Given the description of an element on the screen output the (x, y) to click on. 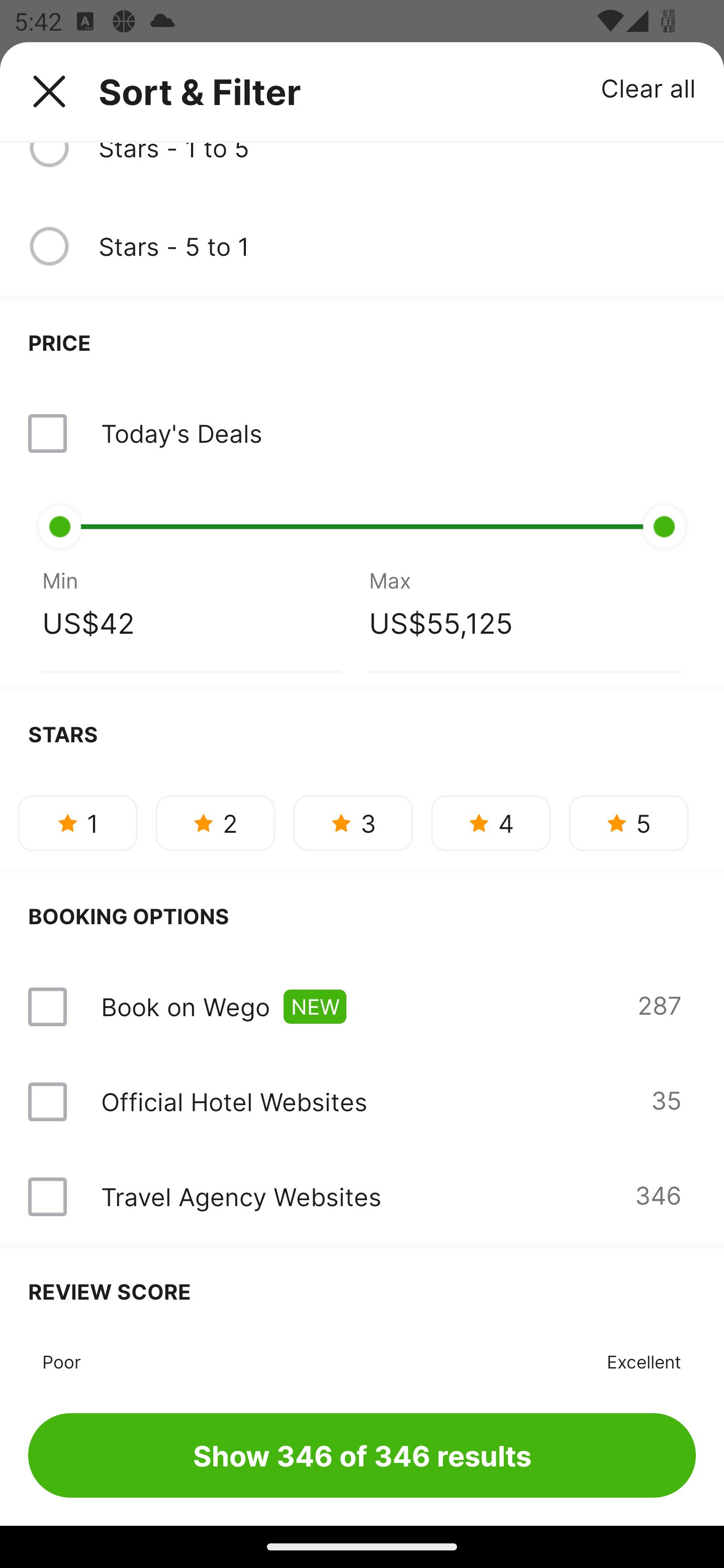
Clear all (648, 87)
Stars - 5 to 1 (396, 245)
Today's Deals (362, 433)
Today's Deals (181, 433)
1 (77, 822)
2 (214, 822)
3 (352, 822)
4 (491, 822)
5 (627, 822)
Book on Wego NEW 287 (362, 1006)
Book on Wego (184, 1006)
Official Hotel Websites 35 (362, 1101)
Official Hotel Websites (233, 1101)
Travel Agency Websites 346 (362, 1196)
Travel Agency Websites (240, 1196)
Poor Excellent (362, 1359)
Show 346 of 346 results (361, 1454)
